Given the description of an element on the screen output the (x, y) to click on. 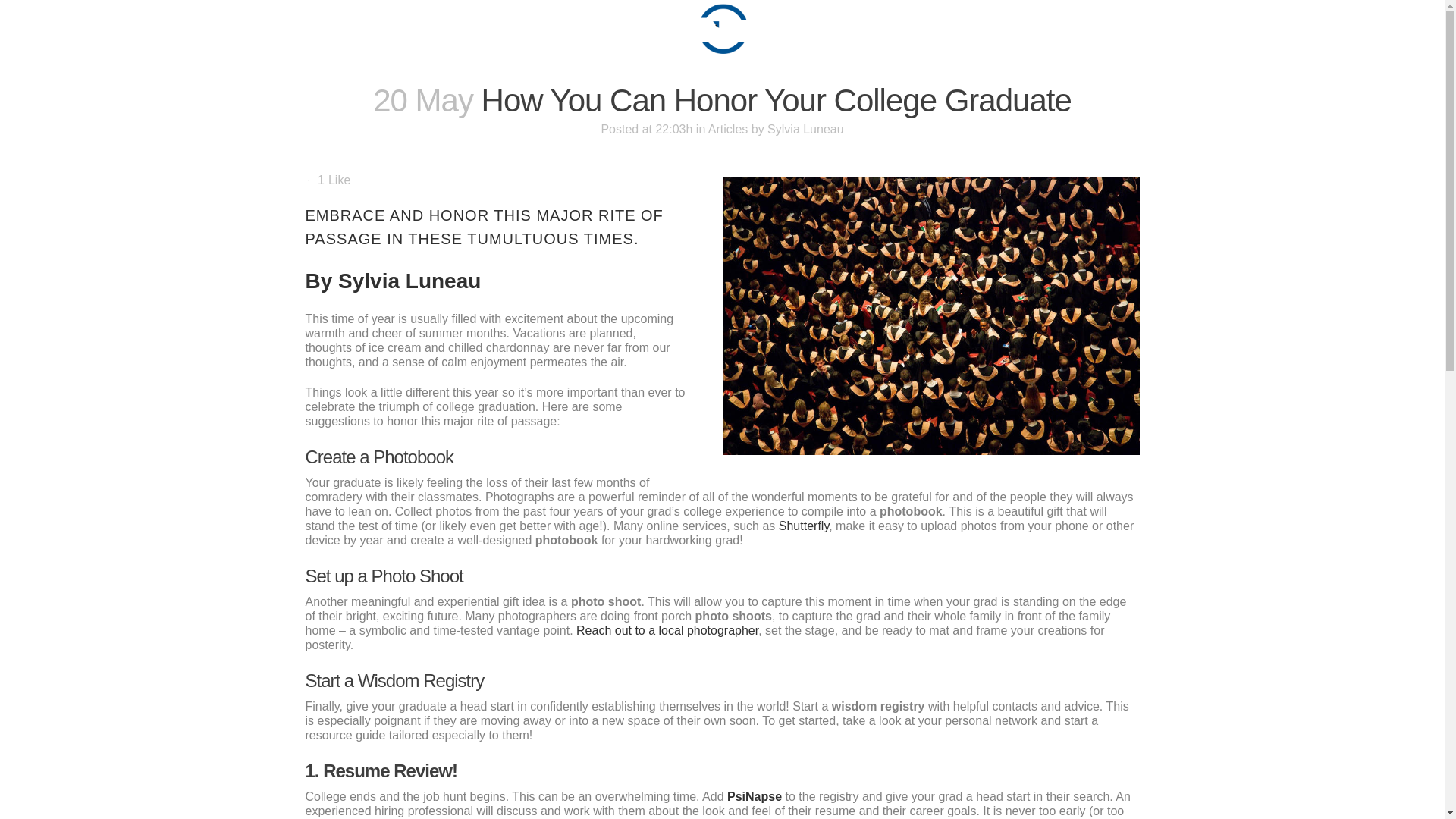
HOME (357, 28)
Reach out to a local photographer (667, 630)
FIND YOUR NEXT HIRE (554, 28)
ABOUT US (432, 28)
INDUSTRIES (945, 28)
Articles (727, 128)
Sylvia Luneau (805, 128)
Like this (333, 180)
CONTACT US (1045, 28)
LOGIN (1393, 28)
SERVICES (853, 28)
PsiNapse (753, 796)
Sylvia Luneau (408, 280)
Shutterfly (803, 525)
1 Like (333, 180)
